Given the description of an element on the screen output the (x, y) to click on. 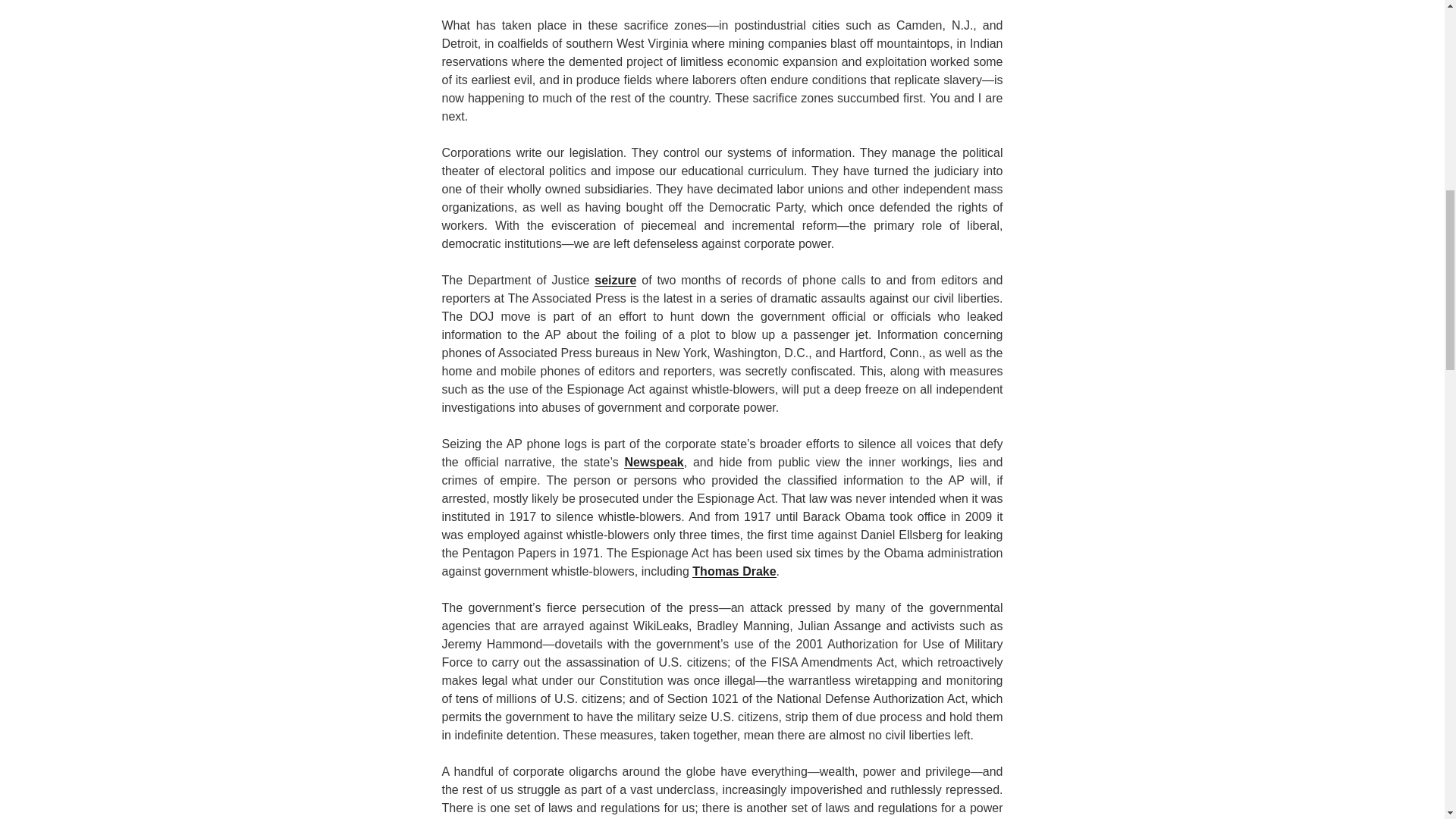
Newspeak (653, 461)
Thomas Drake (734, 571)
seizure (615, 279)
